Given the description of an element on the screen output the (x, y) to click on. 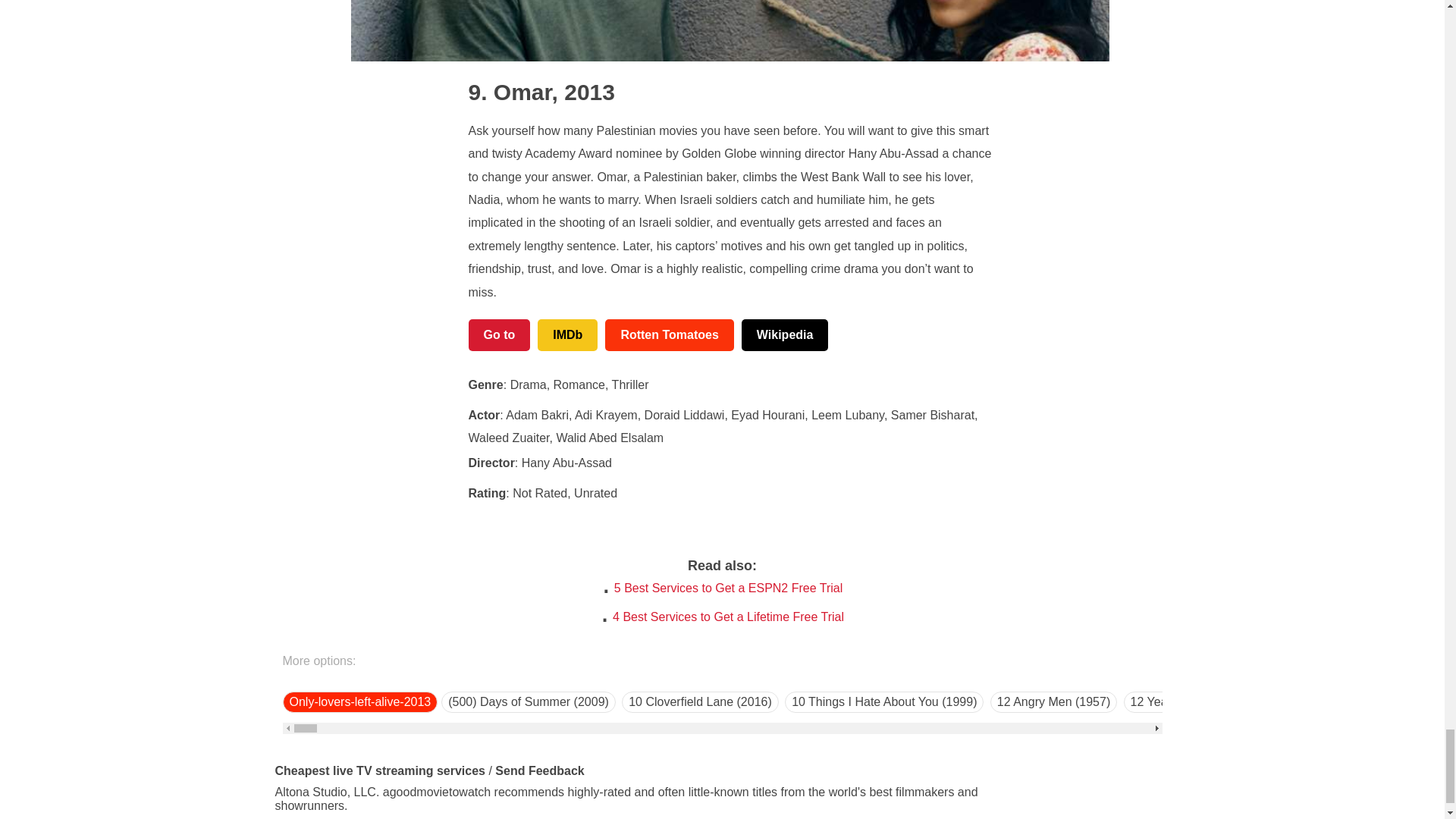
Omar (509, 91)
